Given the description of an element on the screen output the (x, y) to click on. 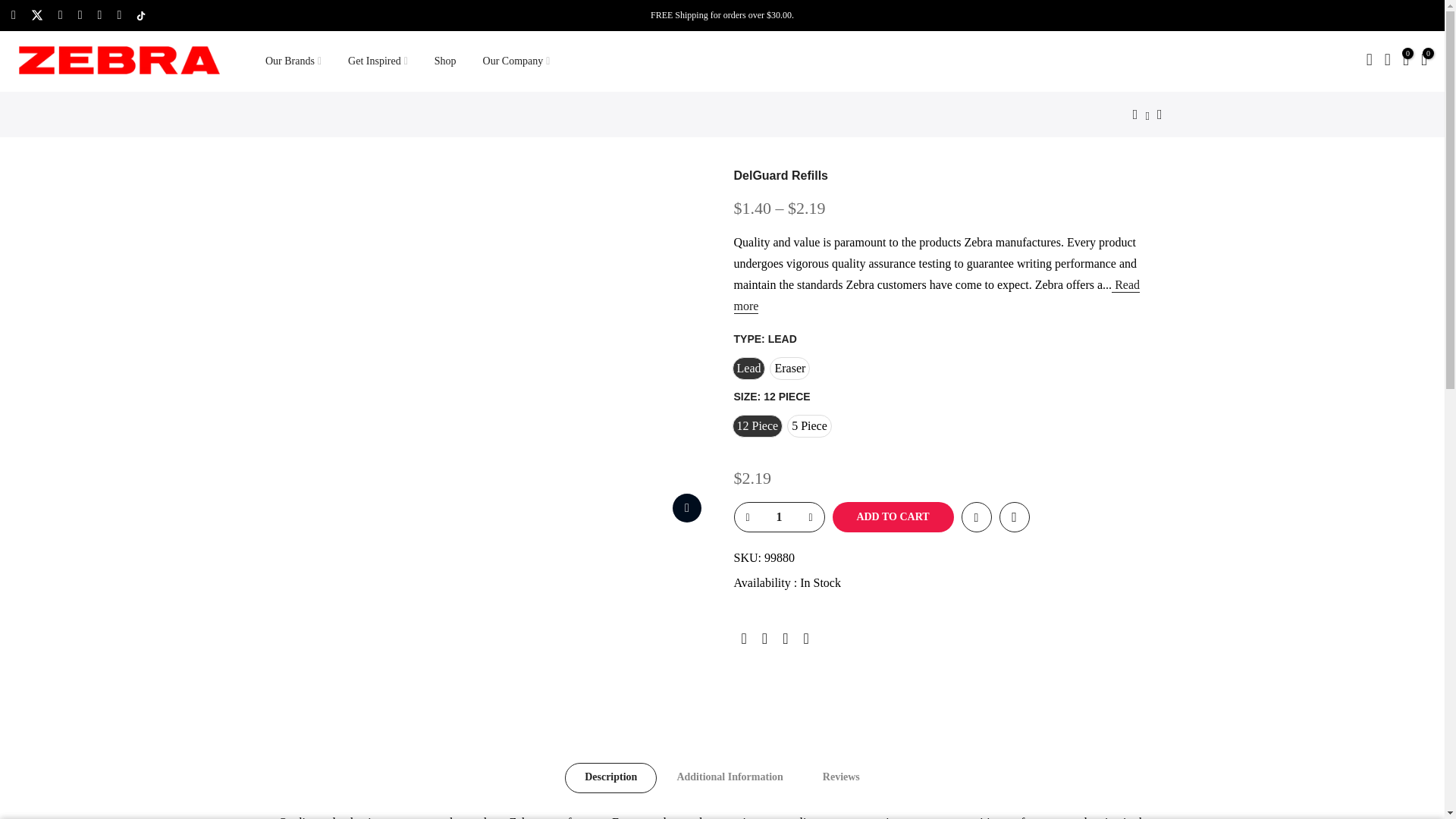
1 (778, 516)
Our Company (515, 61)
Our Brands (292, 61)
Get Inspired (378, 61)
